Given the description of an element on the screen output the (x, y) to click on. 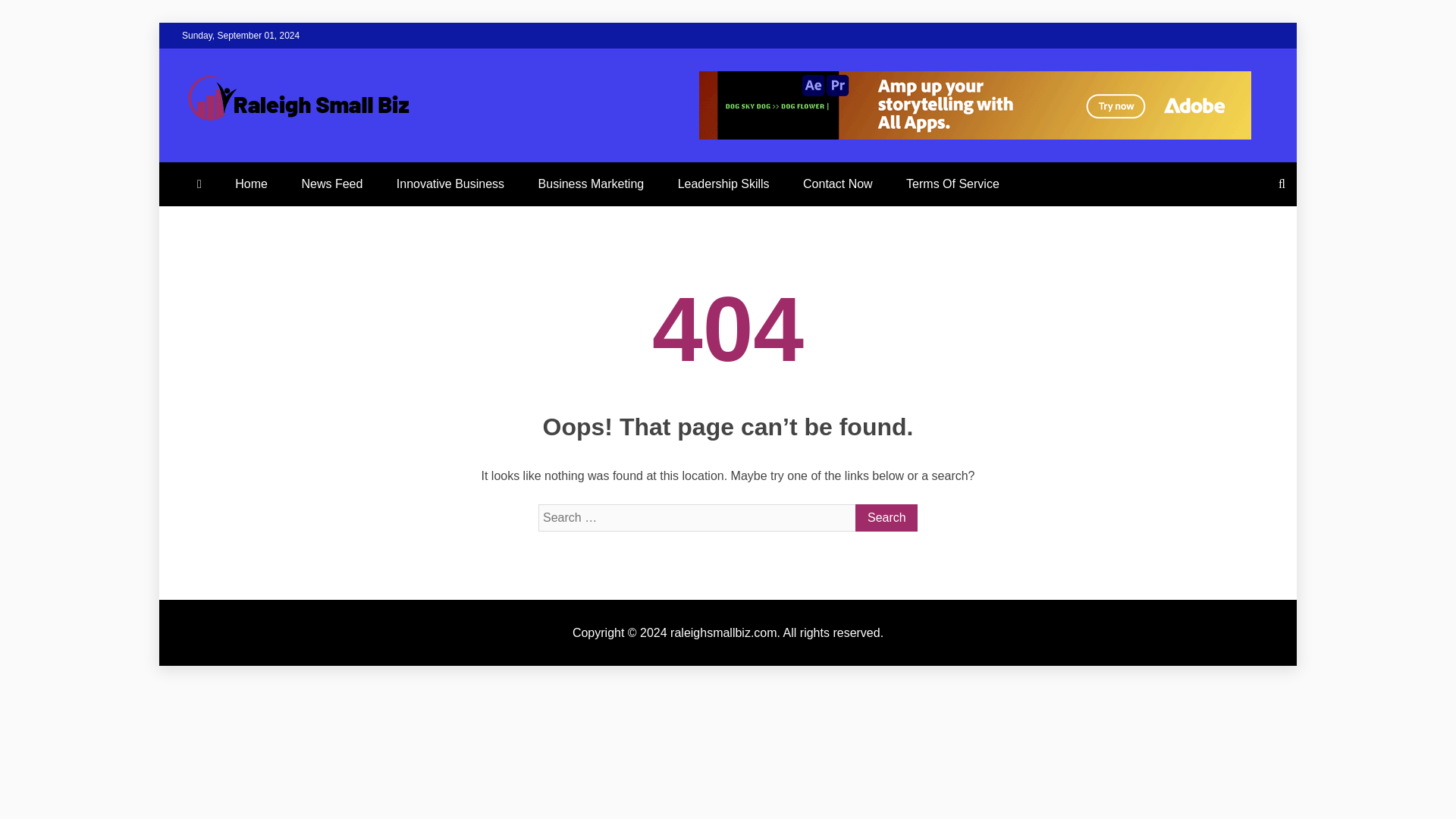
News Feed (331, 183)
Leadership Skills (723, 183)
Search (886, 517)
Search (886, 517)
RALEIGH SMALL BIZ (433, 159)
Terms Of Service (952, 183)
Contact Now (837, 183)
Search (886, 517)
Innovative Business (450, 183)
Home (250, 183)
